Given the description of an element on the screen output the (x, y) to click on. 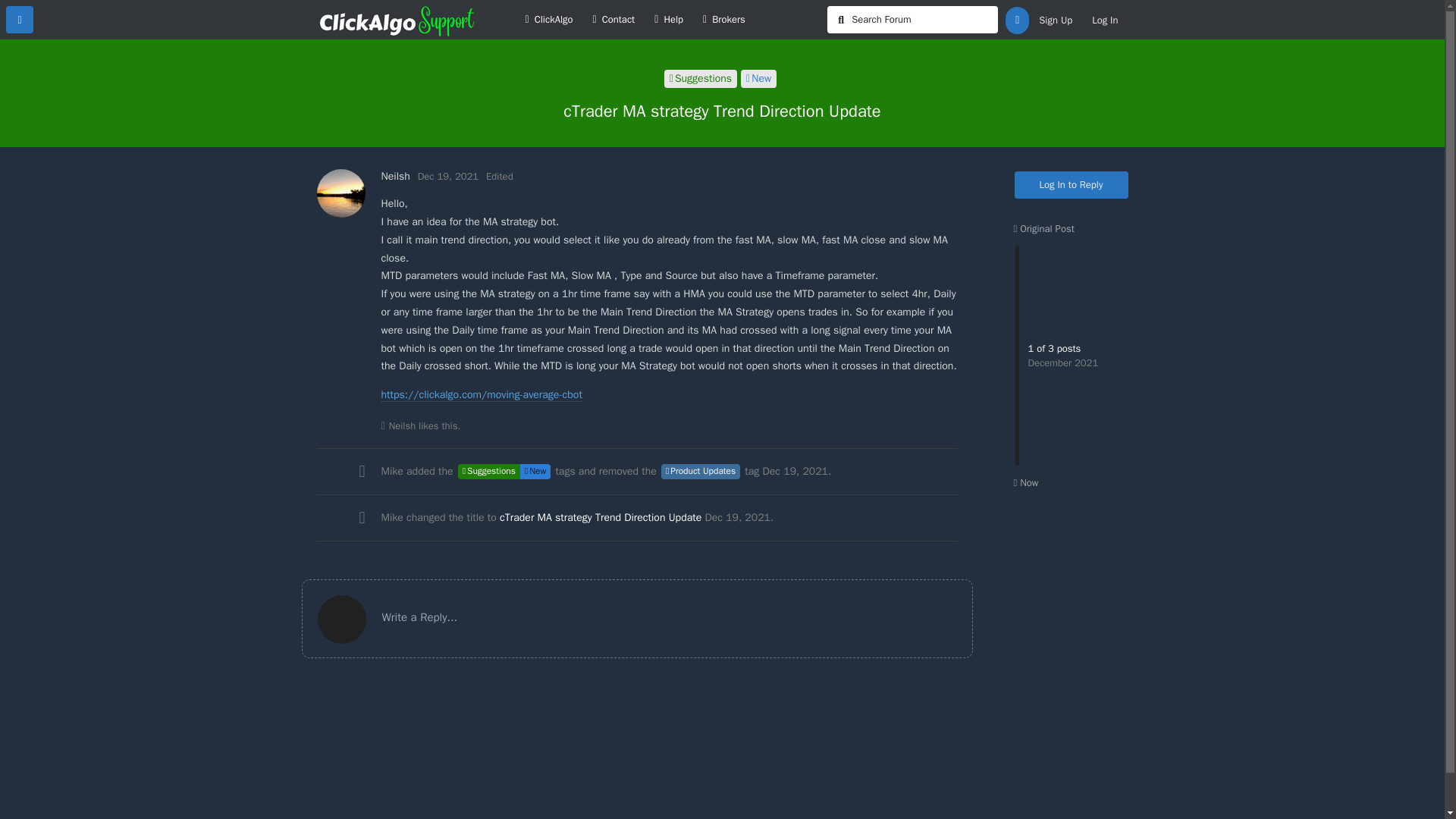
Suggestions (699, 78)
New (758, 78)
Now (1025, 481)
Neilsh (394, 175)
Suggestions (488, 471)
Brokers (724, 19)
Log In to Reply (1071, 185)
Neilsh (402, 426)
Write a Reply... (636, 618)
Product Updates (700, 471)
New (534, 471)
Log In (1103, 19)
Help (669, 19)
